Given the description of an element on the screen output the (x, y) to click on. 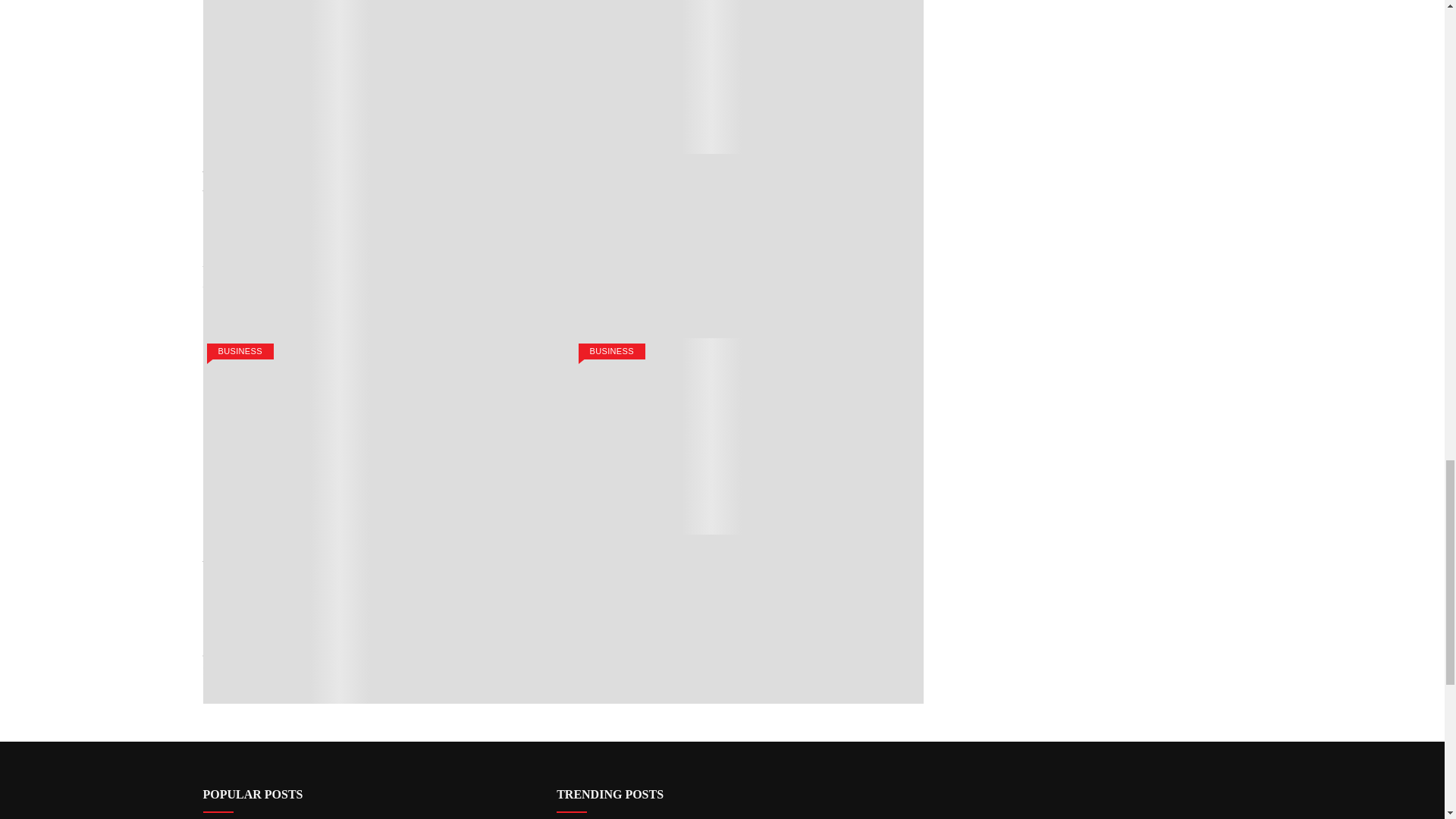
Azim Premji, generous Muslim businessman from India (741, 176)
July 22, 2024 (295, 237)
